Given the description of an element on the screen output the (x, y) to click on. 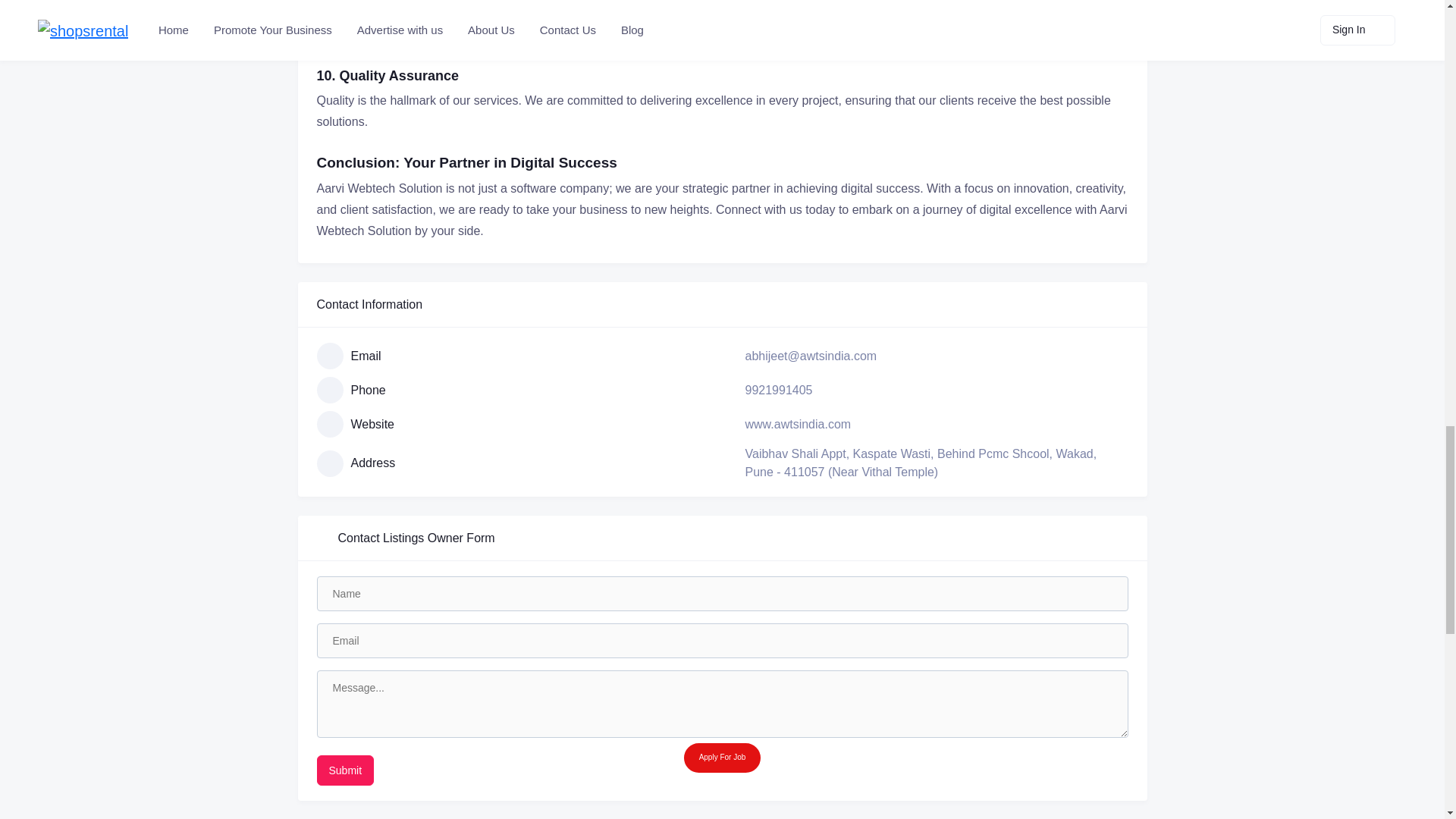
www.awtsindia.com (797, 423)
Submit (345, 770)
9921991405 (778, 390)
